Given the description of an element on the screen output the (x, y) to click on. 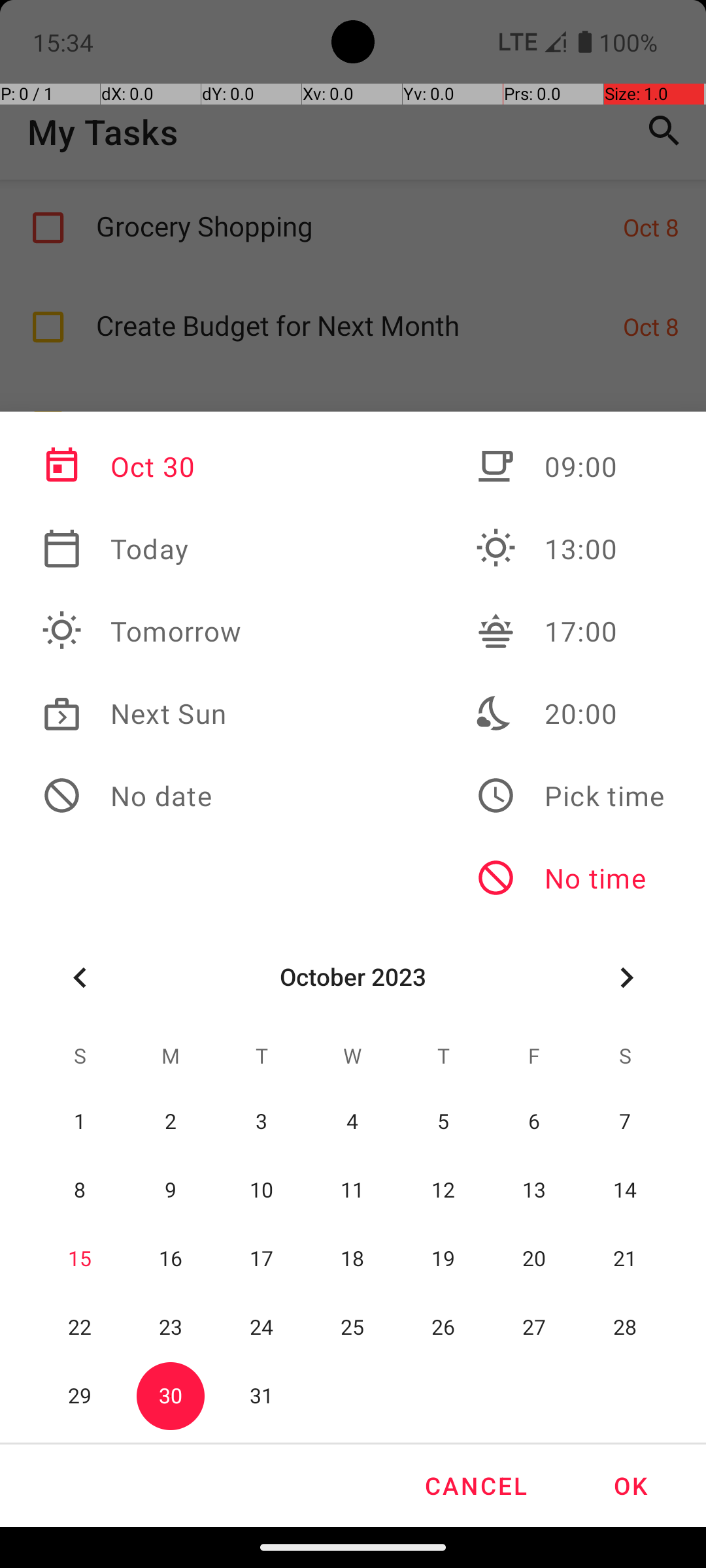
Oct 30 Element type: android.widget.CompoundButton (141, 466)
